Given the description of an element on the screen output the (x, y) to click on. 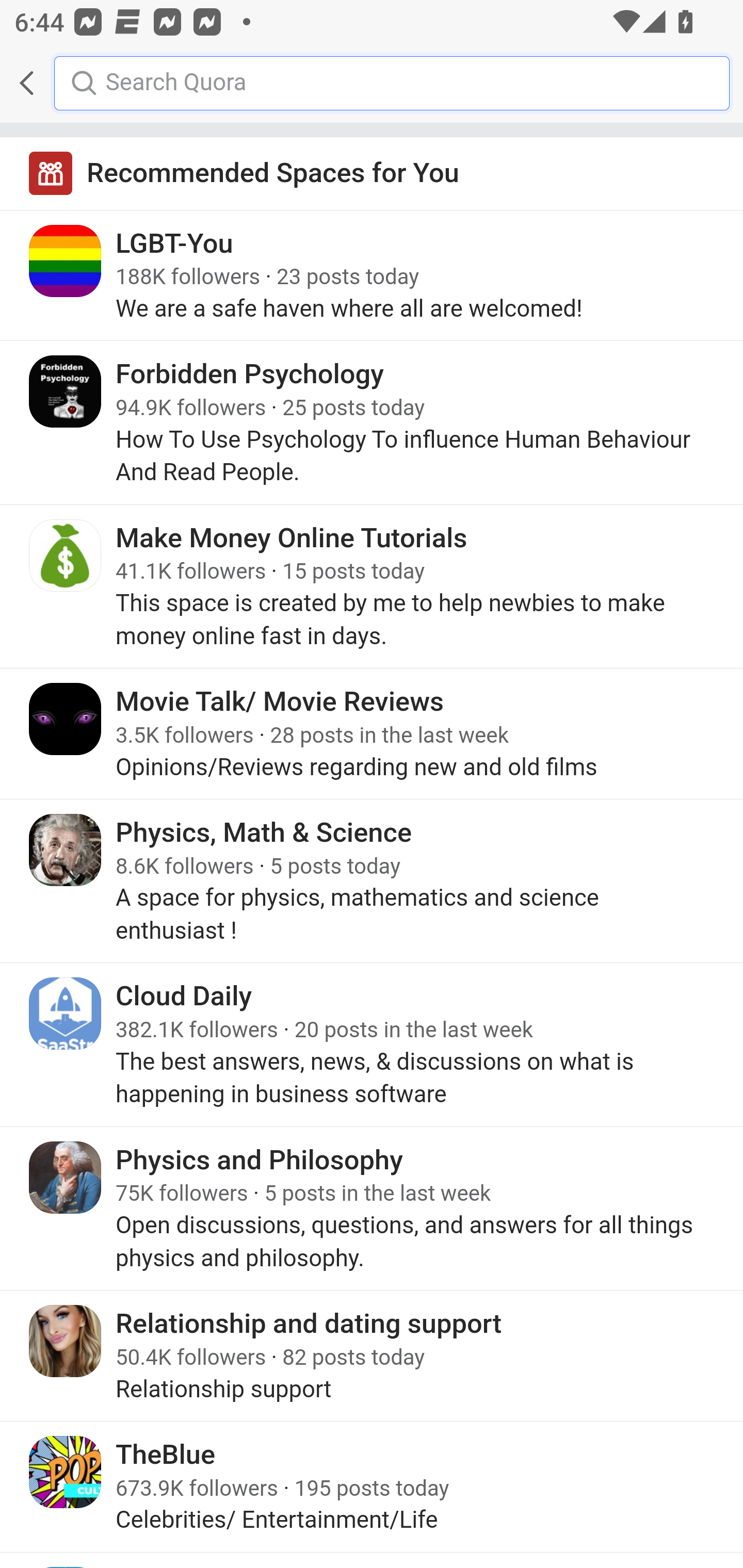
Me Home Search Add (371, 82)
Icon for LGBT-You (65, 260)
Icon for Forbidden Psychology (65, 391)
Icon for Make Money Online Tutorials (65, 554)
Icon for Movie Talk/ Movie Reviews (65, 718)
Icon for Physics, Math & Science (65, 849)
Icon for Cloud Daily (65, 1013)
Icon for Physics and Philosophy (65, 1178)
Icon for Relationship and dating support (65, 1341)
Icon for TheBlue (65, 1471)
